Given the description of an element on the screen output the (x, y) to click on. 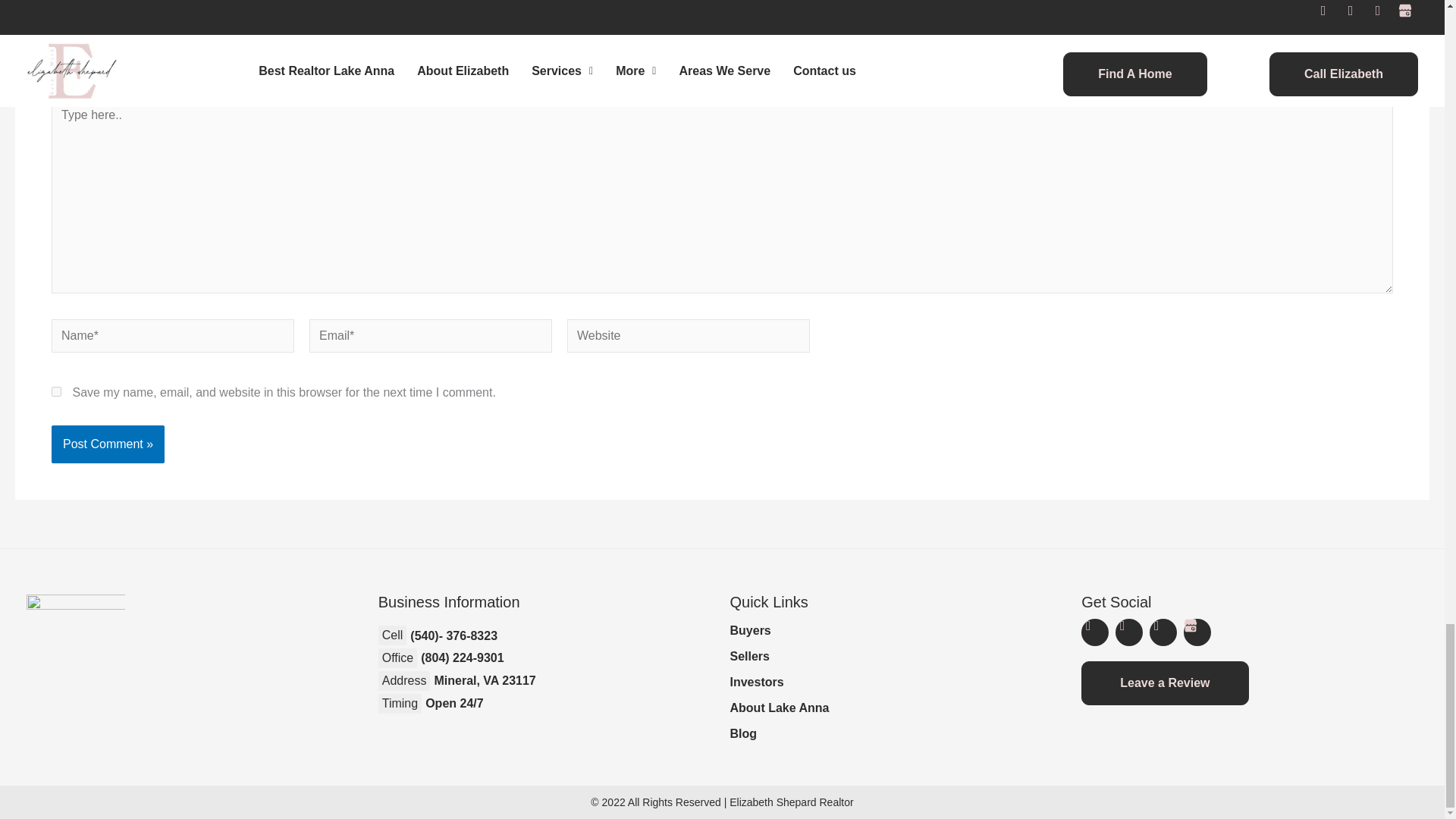
Buyers (897, 630)
About Lake Anna (897, 707)
Blog (897, 734)
Sellers (897, 656)
yes (55, 391)
Investors (897, 682)
